Given the description of an element on the screen output the (x, y) to click on. 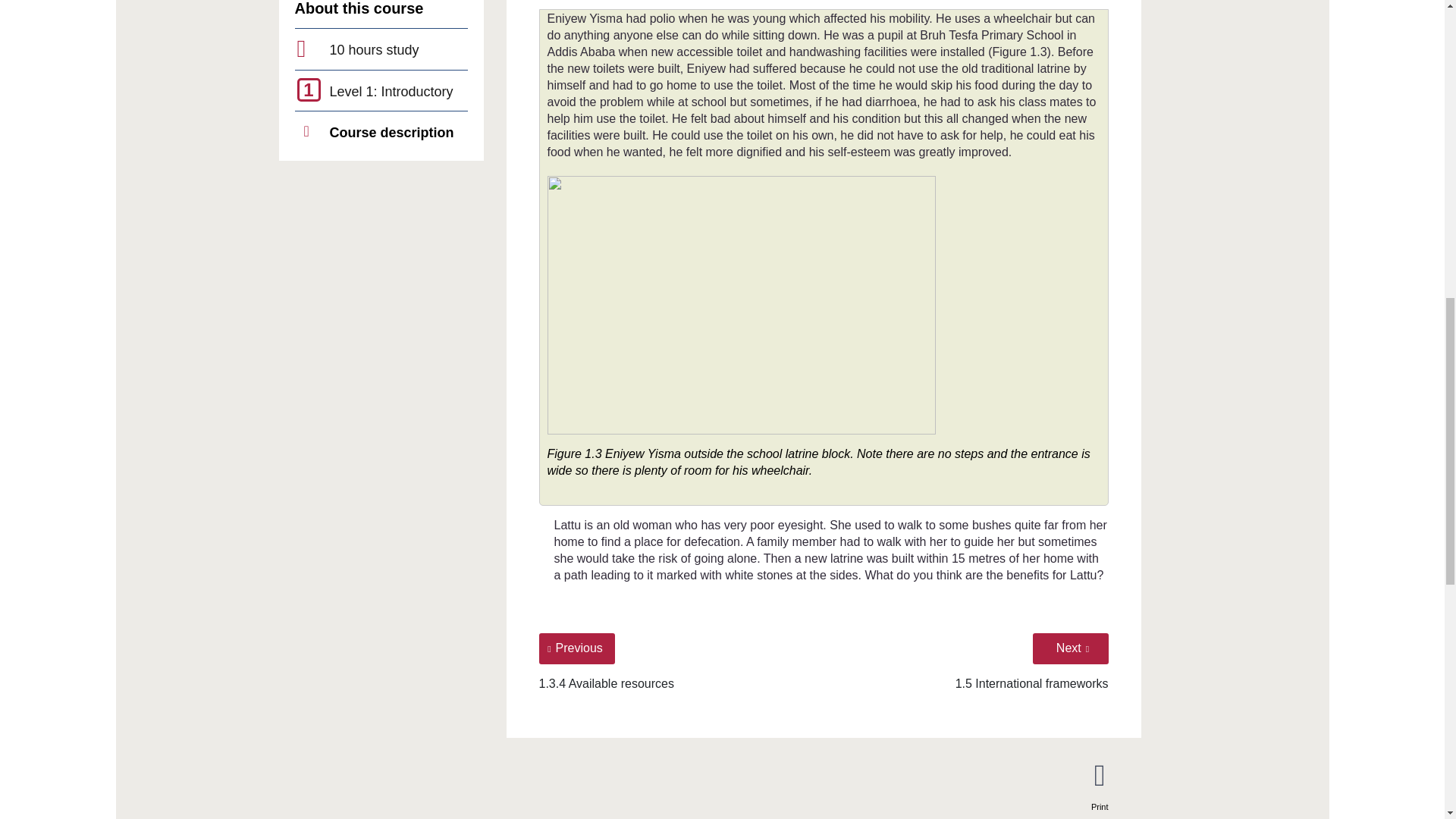
Go to next page (1070, 648)
Back to full course description (390, 132)
Back to previous page (576, 648)
